Given the description of an element on the screen output the (x, y) to click on. 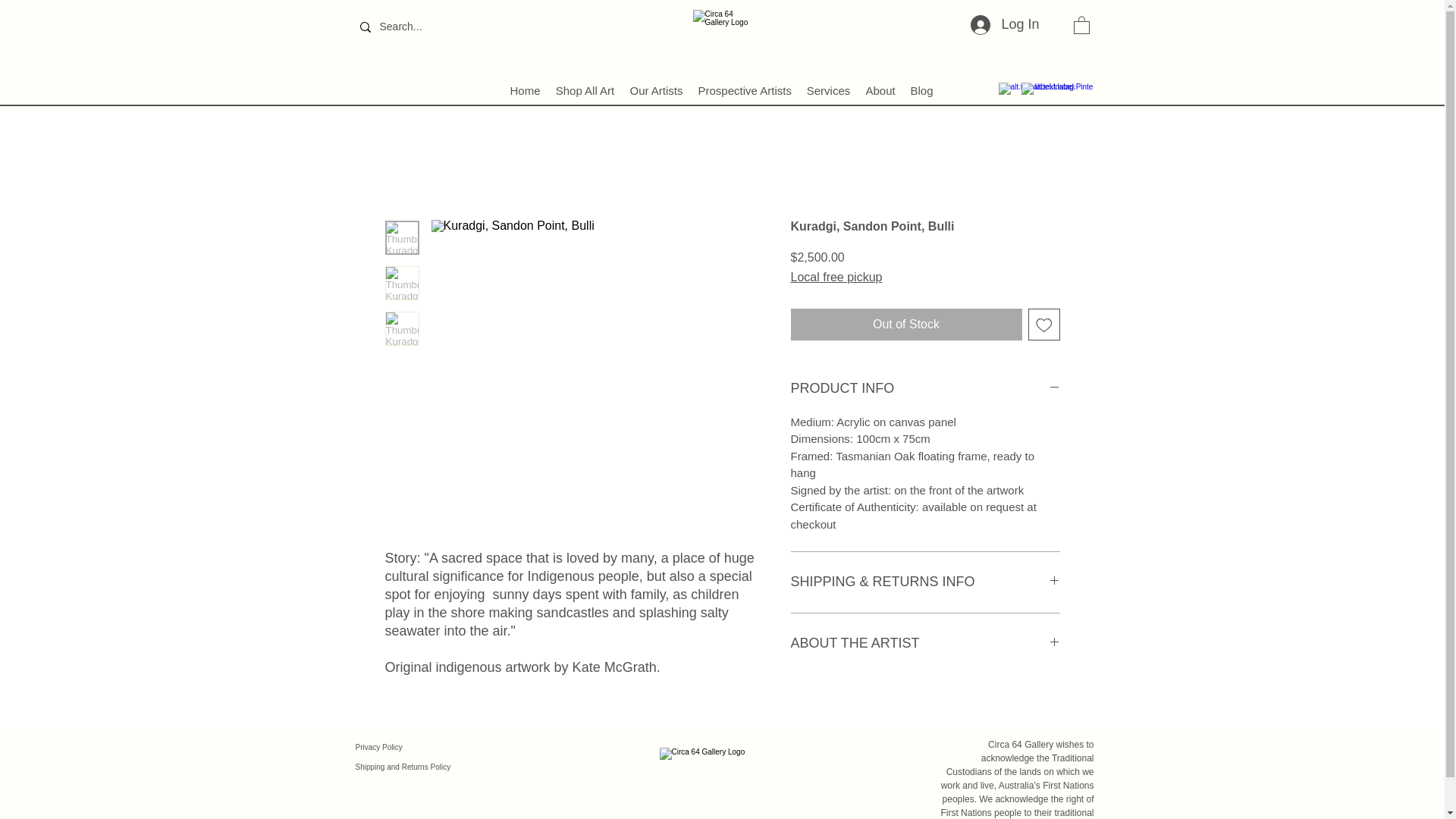
Log In (1004, 24)
Prospective Artists (743, 89)
Local free pickup (836, 277)
Home (524, 89)
Blog (921, 89)
Out of Stock (906, 324)
Our Artists (655, 89)
PRODUCT INFO (924, 388)
Services (829, 89)
Shop All Art (584, 89)
About (880, 89)
